Given the description of an element on the screen output the (x, y) to click on. 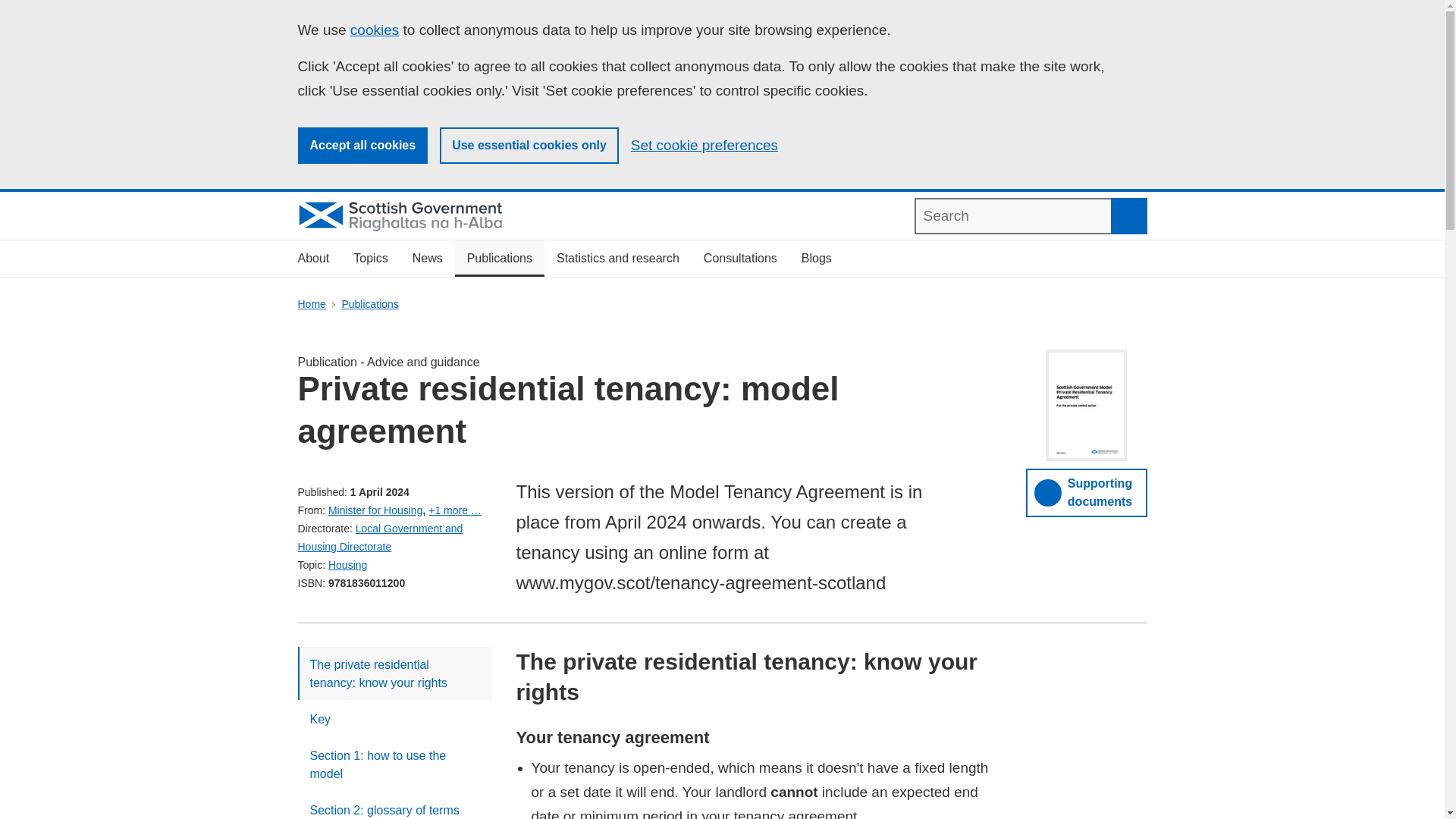
Section 1: how to use the model (394, 764)
Home (310, 304)
Supporting documents (1086, 492)
Local Government and Housing Directorate (380, 537)
Blogs (816, 258)
News (427, 258)
Publications (499, 258)
Key (394, 718)
Accept all cookies (362, 145)
Set cookie preferences (703, 145)
The private residential tenancy: know your rights (394, 673)
Use essential cookies only (528, 145)
Topics (369, 258)
About (312, 258)
Statistics and research (617, 258)
